Given the description of an element on the screen output the (x, y) to click on. 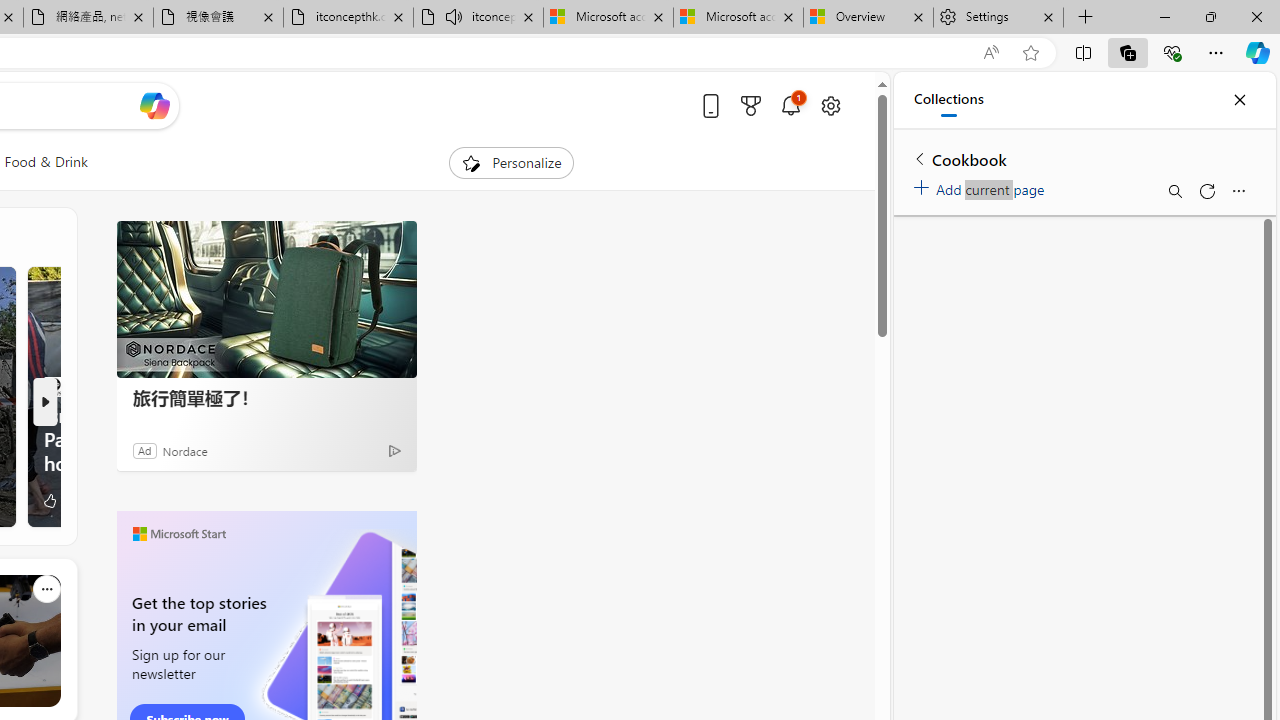
More options menu (1238, 190)
itconcepthk.com/projector_solutions.mp4 (348, 17)
Mute tab (453, 16)
69 Like (58, 500)
